Given the description of an element on the screen output the (x, y) to click on. 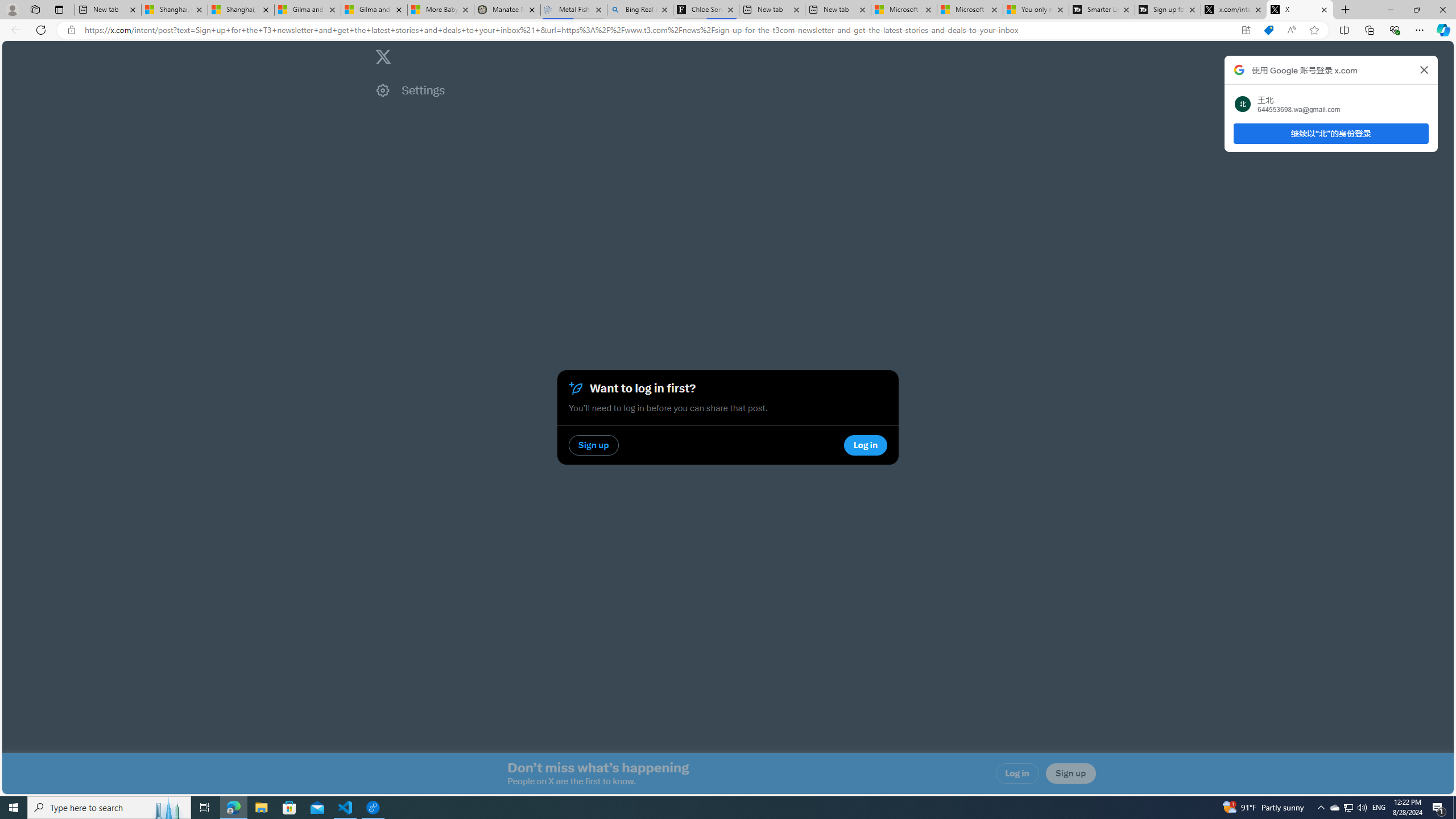
App available. Install X (1245, 29)
Bing Real Estate - Home sales and rental listings (640, 9)
Smarter Living | T3 (1102, 9)
Sign up (1070, 773)
